Given the description of an element on the screen output the (x, y) to click on. 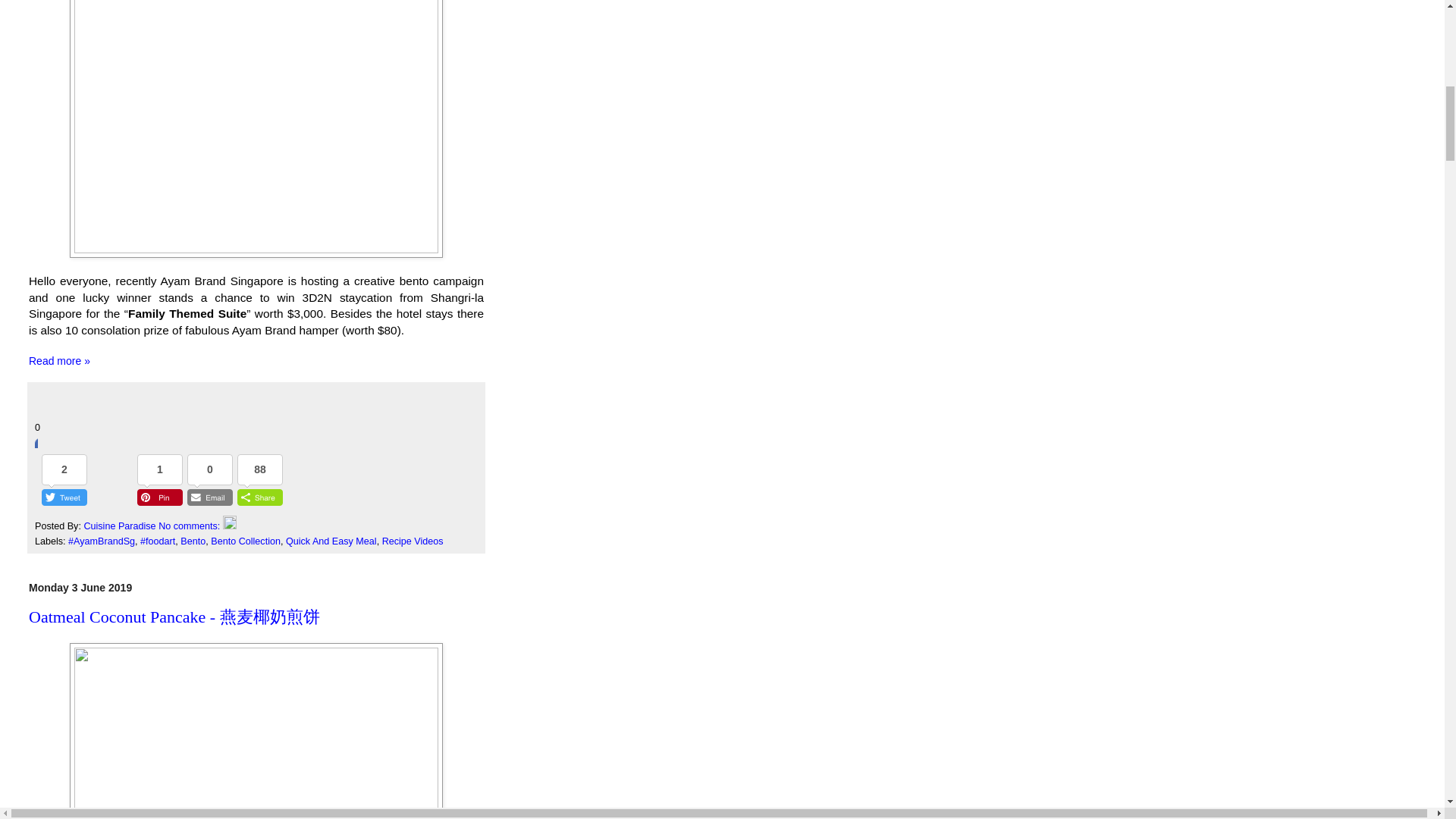
Bento (192, 541)
Quick And Easy Meal (331, 541)
No comments: (190, 525)
author profile (120, 525)
Edit Post (228, 525)
Cuisine Paradise (120, 525)
Recipe Videos (412, 541)
Bento Collection (246, 541)
